Given the description of an element on the screen output the (x, y) to click on. 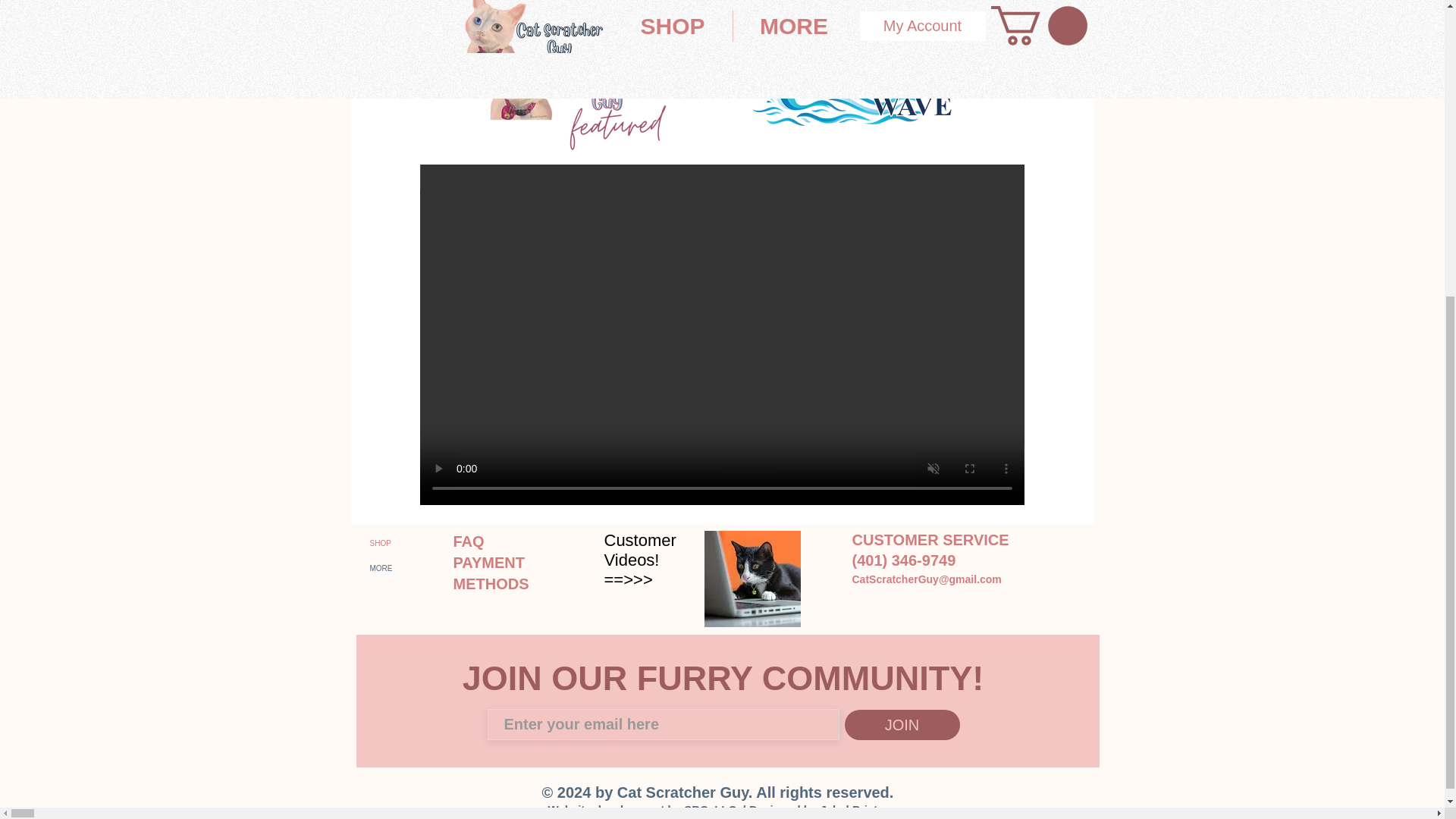
PAYMENT METHODS  (493, 573)
JOIN (901, 725)
CatComputer.jpg (751, 578)
FAQ (468, 541)
SHOP (399, 543)
